Given the description of an element on the screen output the (x, y) to click on. 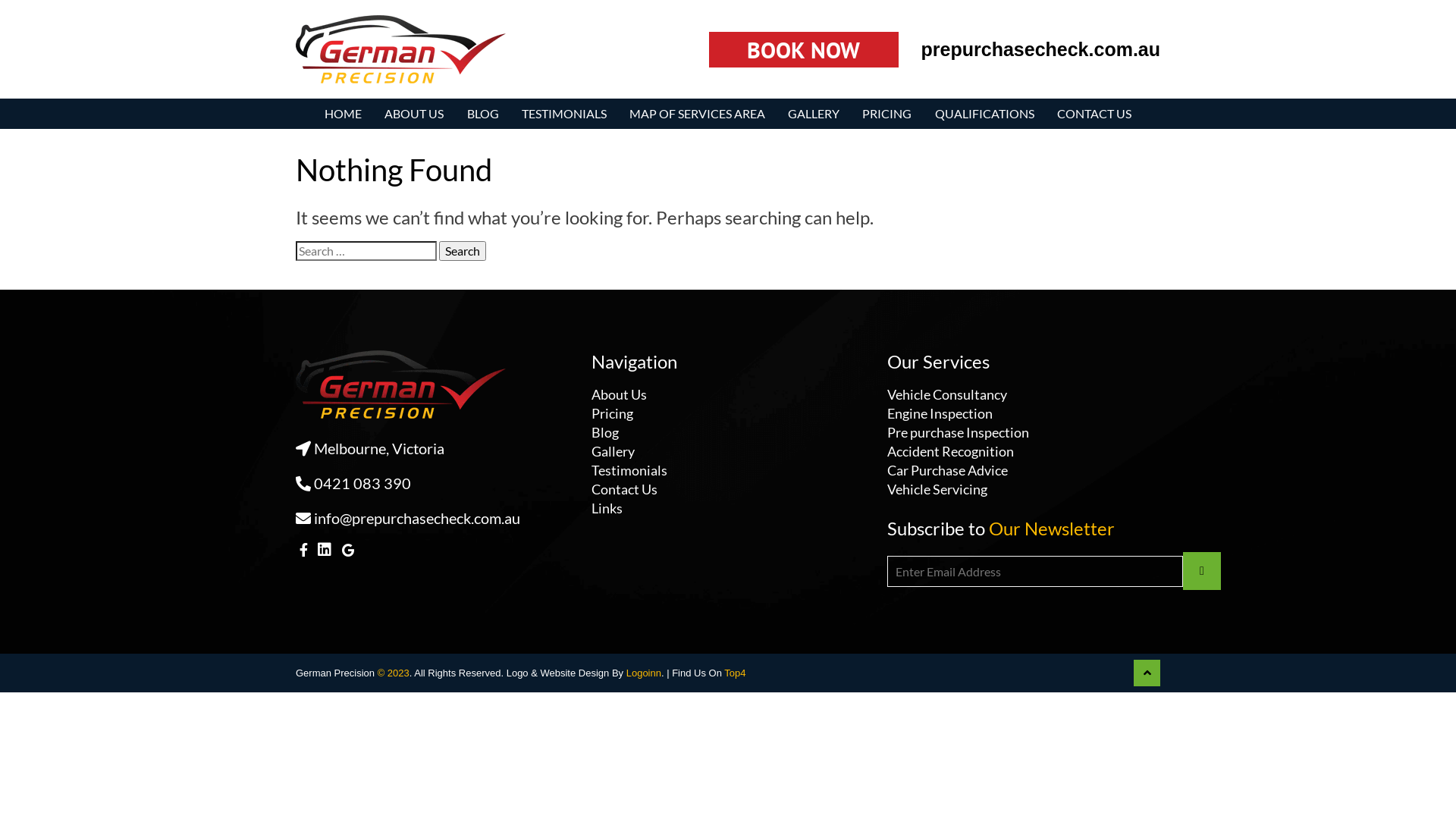
ABOUT US Element type: text (414, 113)
Contact Us Element type: text (624, 488)
BLOG Element type: text (482, 113)
Testimonials Element type: text (629, 469)
GermanPrecisionVehicleInspections on Facebook Element type: hover (304, 549)
Top4 Element type: text (734, 672)
Logoinn Element type: text (643, 672)
prepurchasecheck.com.au Element type: text (1040, 48)
Melbourne, Victoria Element type: text (369, 448)
German Precision on Google My Business Element type: hover (348, 550)
Engine Inspection Element type: text (939, 412)
About Us Element type: text (618, 393)
German Precision Pre Purchase Car Inspection Element type: text (391, 105)
GALLERY Element type: text (814, 113)
German Precision on Linkedin Element type: hover (325, 548)
CONTACT US Element type: text (1093, 113)
Pre purchase Inspection Element type: text (958, 431)
0421 083 390 Element type: text (353, 482)
Pricing Element type: text (612, 412)
Accident Recognition Element type: text (950, 450)
Vehicle Consultancy Element type: text (947, 393)
HOME Element type: text (343, 113)
Blog Element type: text (604, 431)
TESTIMONIALS Element type: text (563, 113)
QUALIFICATIONS Element type: text (984, 113)
Gallery Element type: text (612, 450)
MAP OF SERVICES AREA Element type: text (696, 113)
Links Element type: text (606, 507)
info@prepurchasecheck.com.au Element type: text (407, 517)
PRICING Element type: text (887, 113)
Search Element type: text (462, 250)
Car Purchase Advice Element type: text (947, 469)
BOOK NOW Element type: text (803, 49)
Vehicle Servicing Element type: text (937, 488)
